Given the description of an element on the screen output the (x, y) to click on. 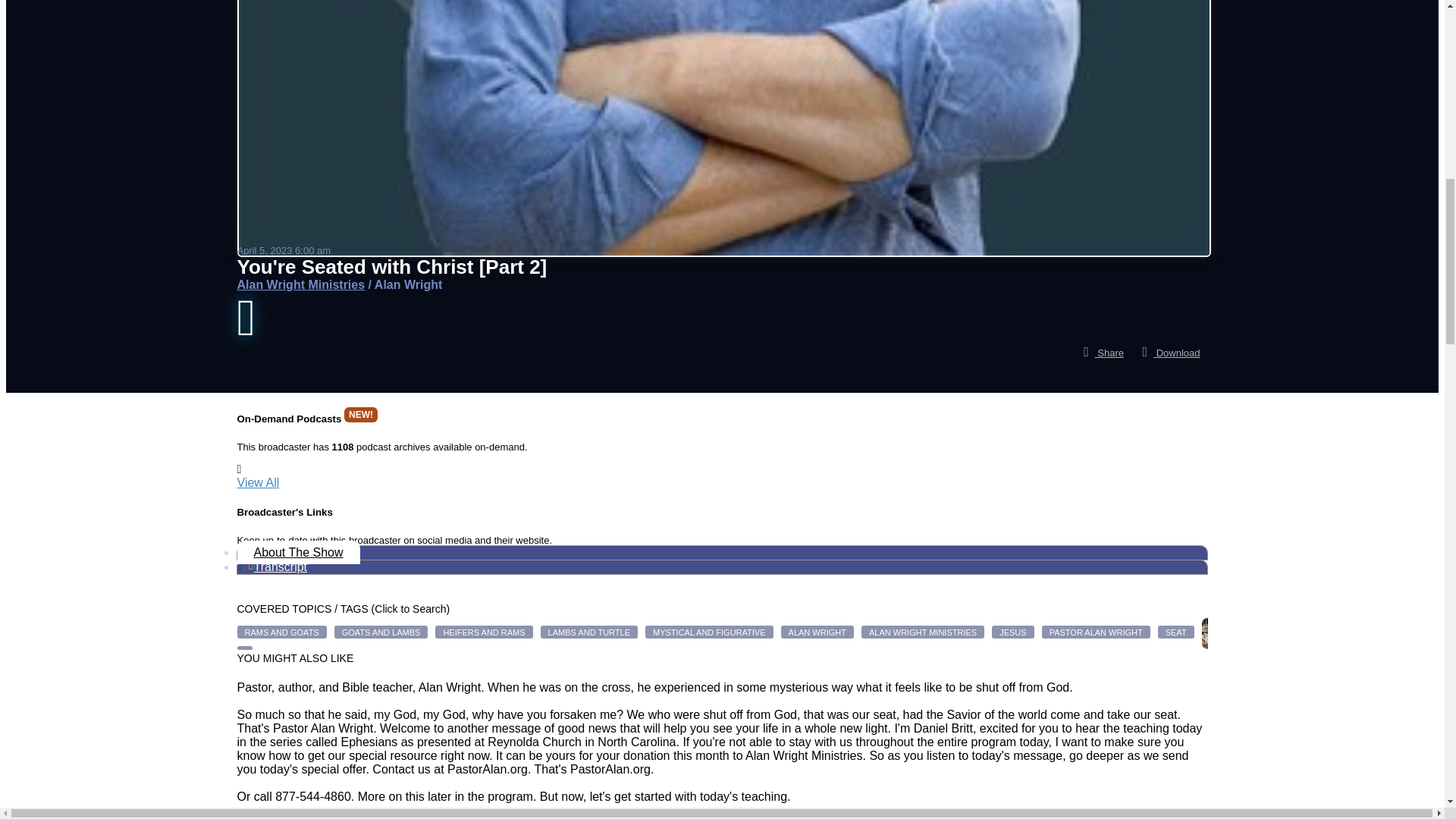
Go to Show Details (300, 284)
